Given the description of an element on the screen output the (x, y) to click on. 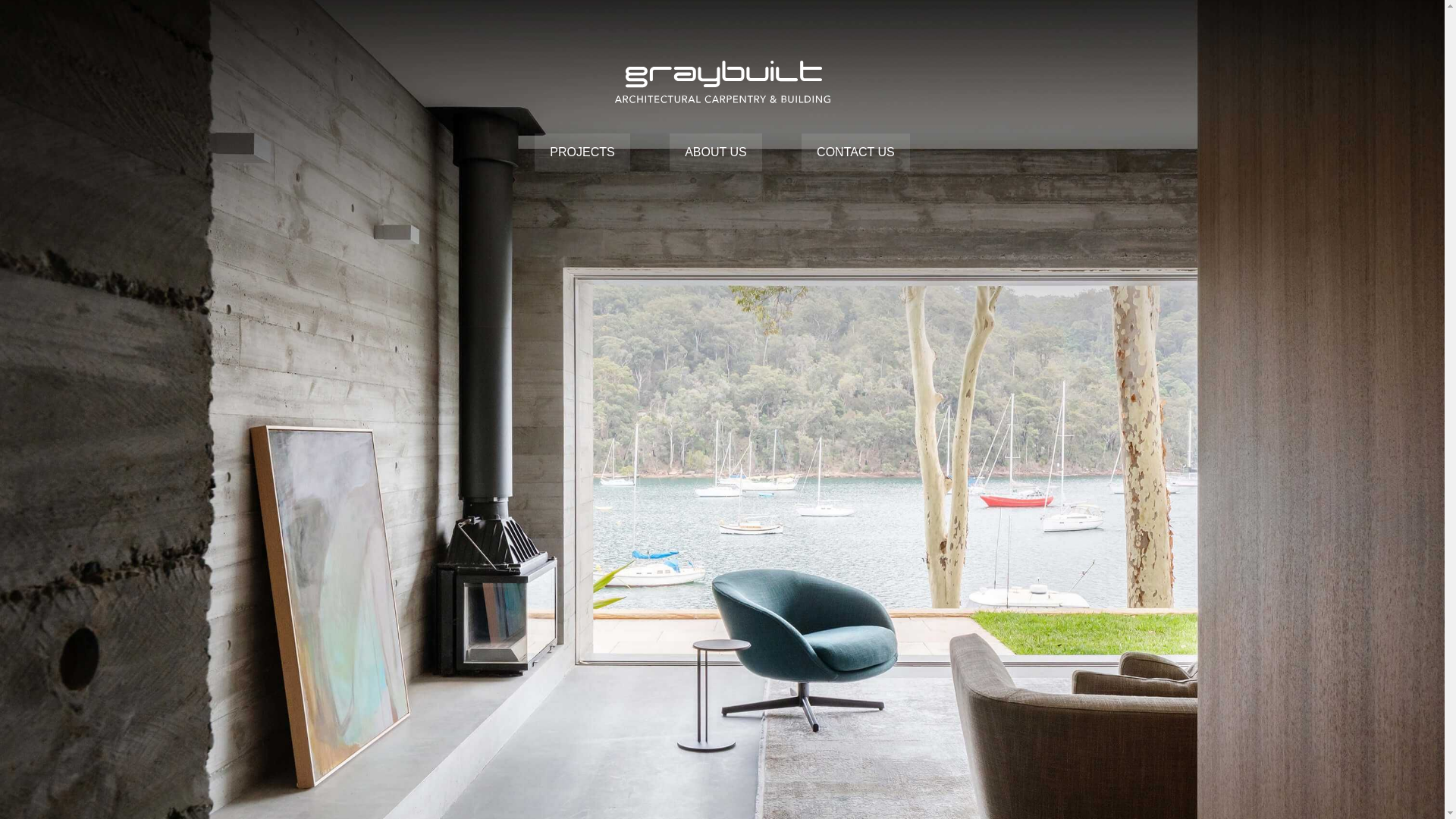
ABOUT US Element type: text (715, 152)
CONTACT US Element type: text (855, 152)
PROJECTS Element type: text (581, 152)
